Given the description of an element on the screen output the (x, y) to click on. 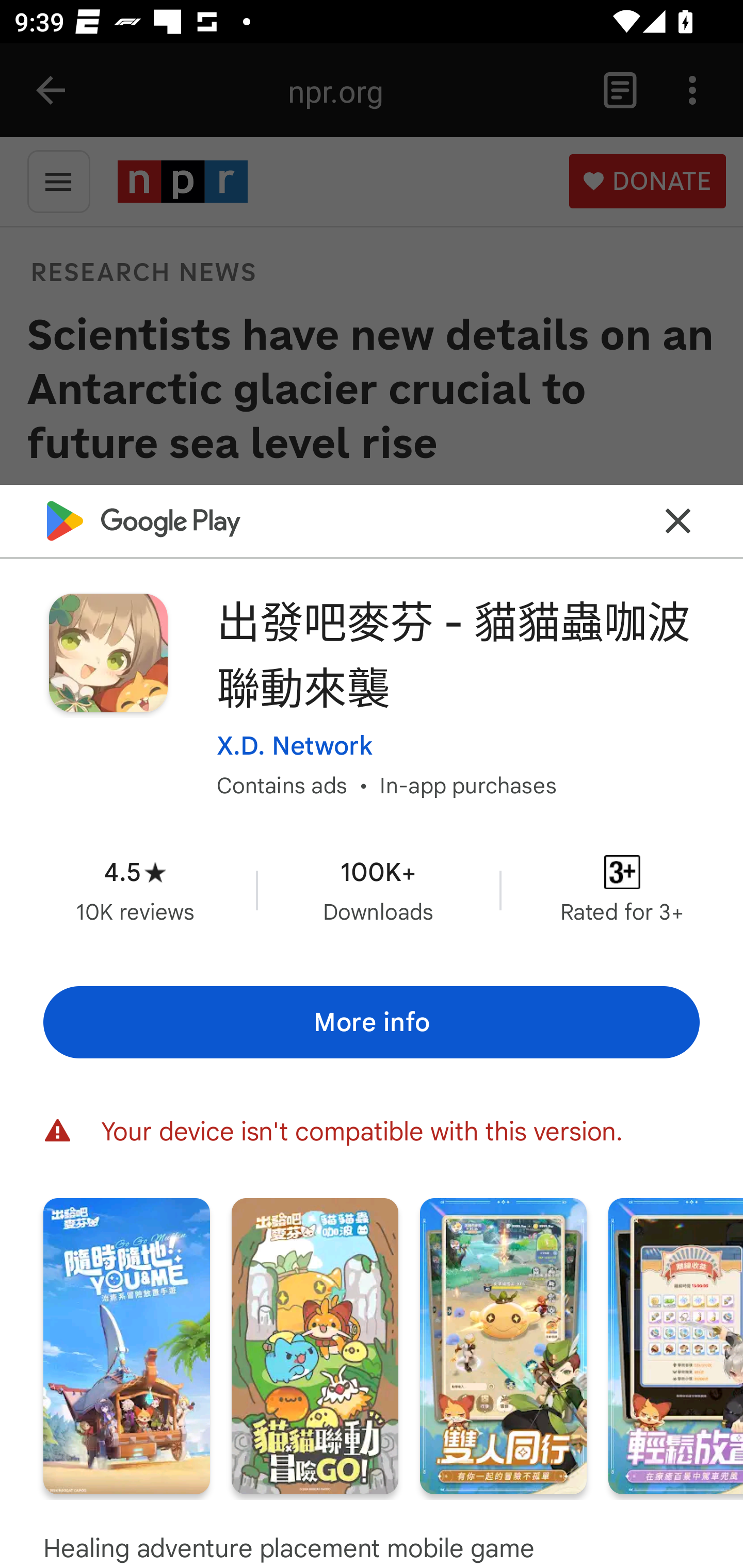
Close (677, 520)
Image of app or game icon for 出發吧麥芬 - 貓貓蟲咖波聯動來襲 (108, 653)
X.D. Network (294, 745)
More info (371, 1022)
Screenshot "1" of "8" (126, 1345)
Screenshot "2" of "8" (314, 1345)
Screenshot "3" of "8" (502, 1345)
Screenshot "4" of "8" (675, 1345)
